Given the description of an element on the screen output the (x, y) to click on. 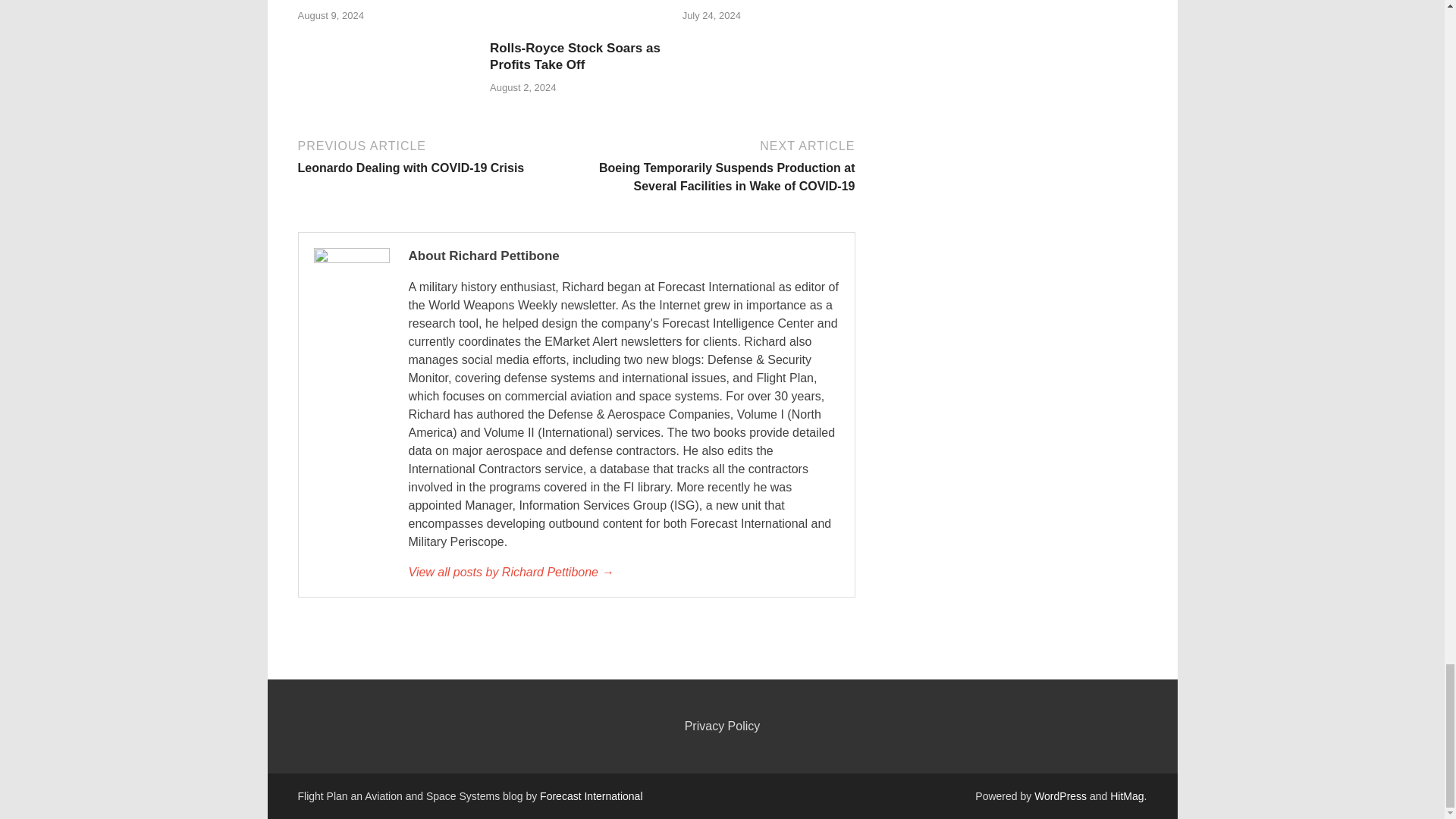
Rolls-Royce Stock Soars as Profits Take Off (575, 56)
WordPress (1059, 796)
Richard Pettibone (622, 572)
HitMag WordPress Theme (1125, 796)
